Given the description of an element on the screen output the (x, y) to click on. 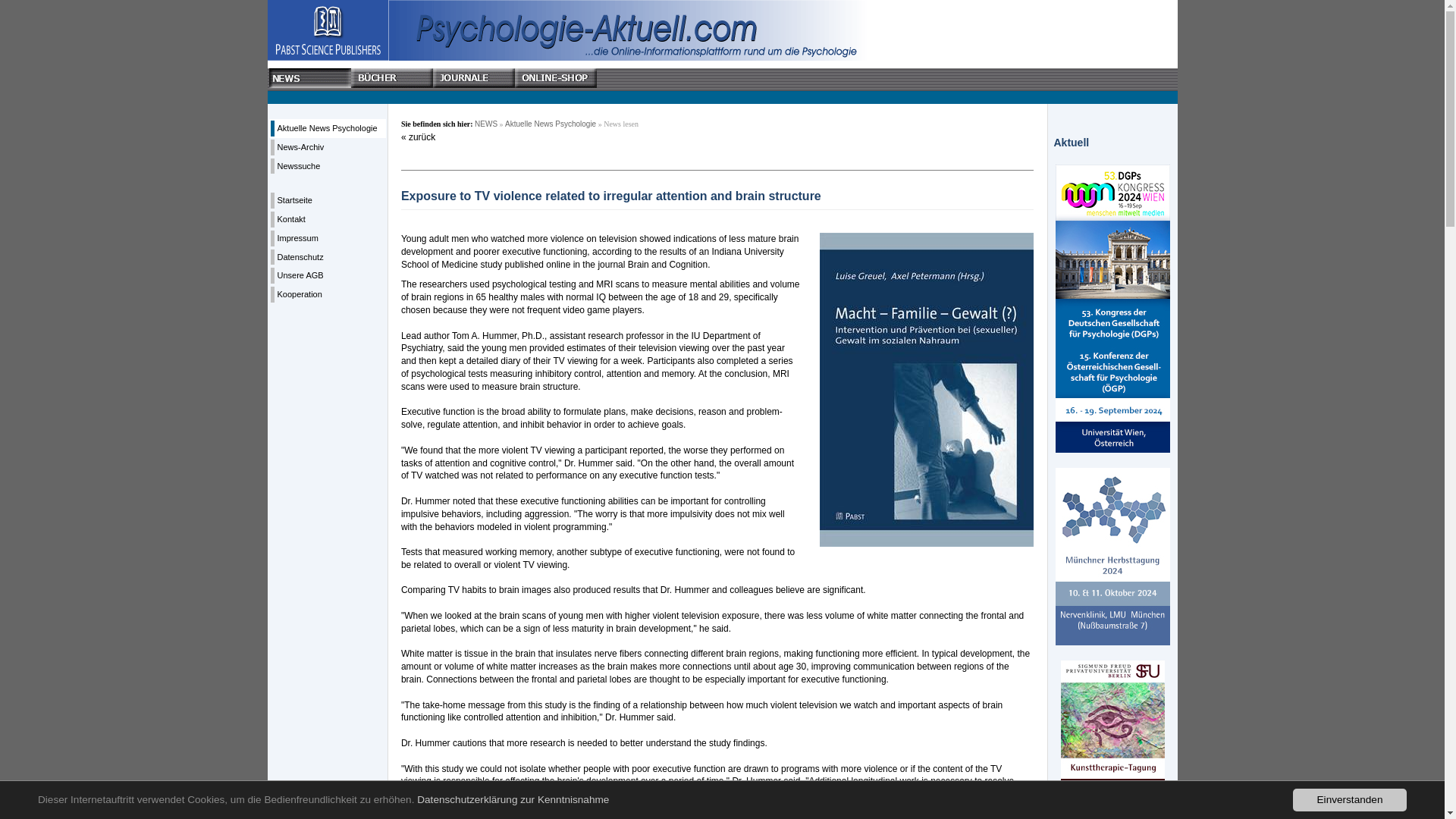
Kontakt (291, 218)
Newssuche (299, 165)
NEWS (485, 123)
Startseite (295, 199)
Aktuelle News Psychologie (327, 127)
Kooperation (299, 293)
Unsere AGB (300, 275)
Aktuelle News Psychologie (550, 123)
Datenschutz (300, 256)
Impressum (298, 237)
News-Archiv (301, 146)
